Given the description of an element on the screen output the (x, y) to click on. 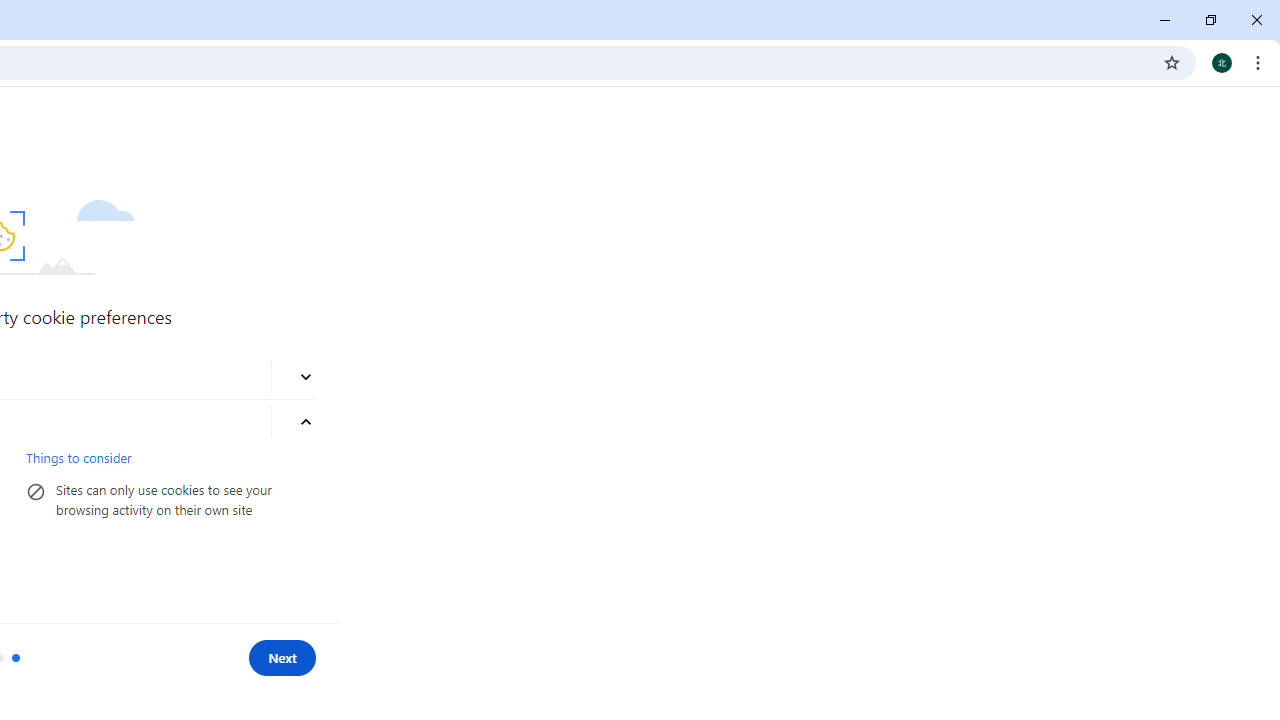
Next (282, 658)
More about blocking third-party cookies in Incognito mode (305, 377)
More about blocking third-party cookies (305, 421)
